Given the description of an element on the screen output the (x, y) to click on. 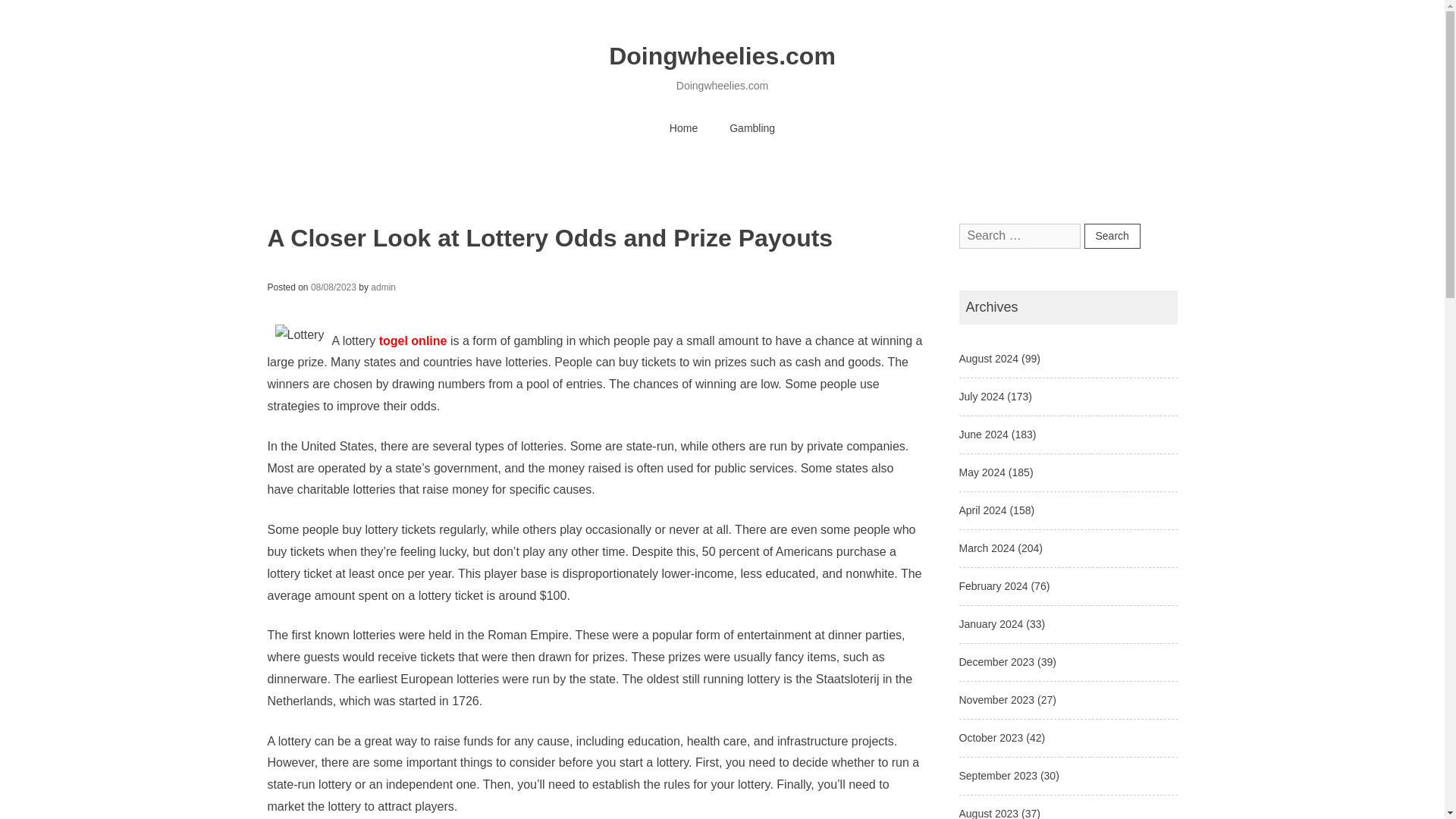
Gambling (751, 128)
Doingwheelies.com (721, 55)
January 2024 (990, 623)
December 2023 (995, 662)
June 2024 (982, 434)
September 2023 (997, 775)
admin (383, 286)
August 2024 (987, 358)
Search (1112, 235)
Search (1112, 235)
